Given the description of an element on the screen output the (x, y) to click on. 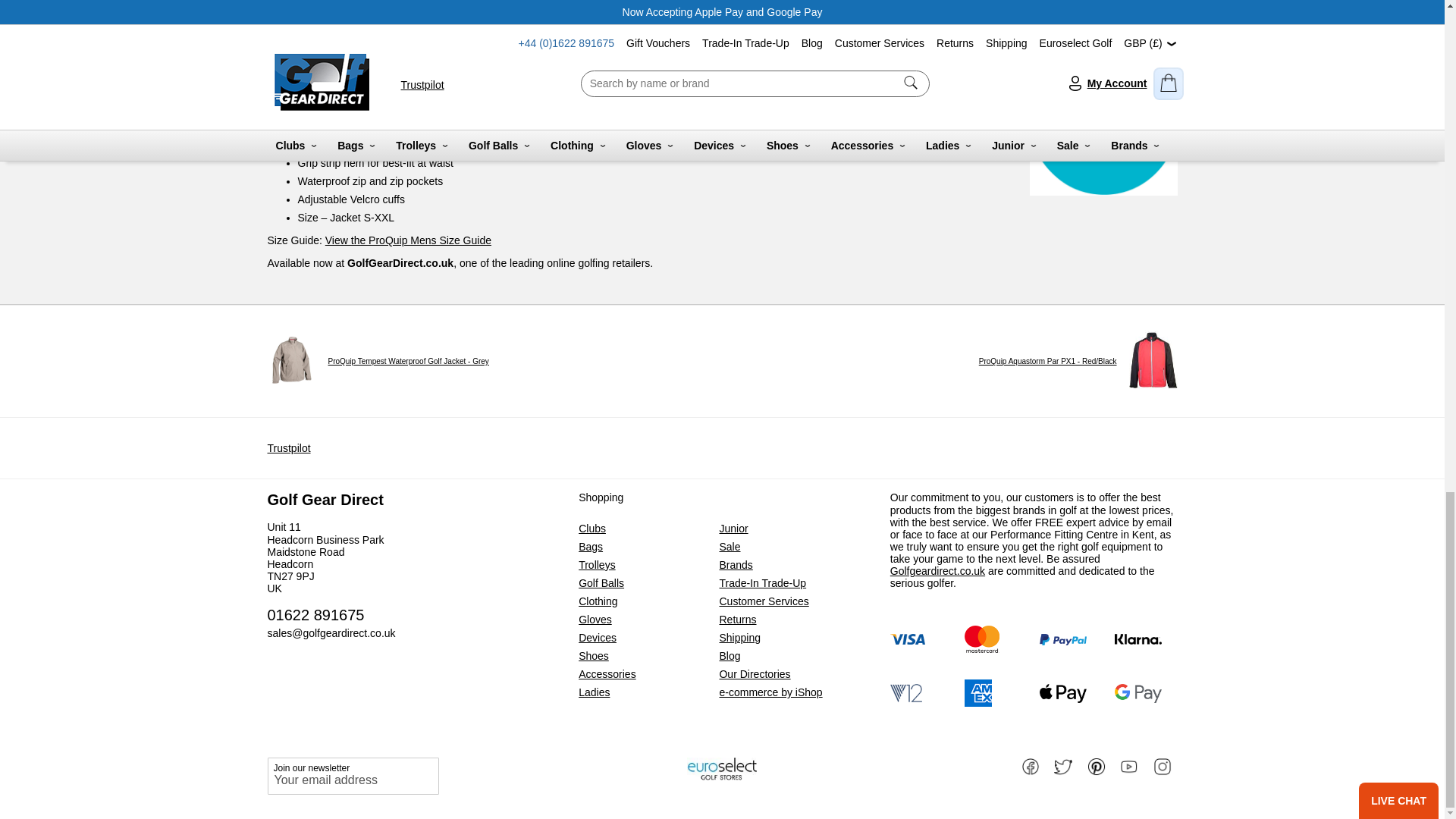
View the ProQuip Mens Size Guide (408, 240)
Facebook (1032, 763)
Twitter (1064, 763)
Your email address (352, 775)
YouTube (1130, 763)
Pinterest (1097, 763)
Instagram (1163, 763)
